Given the description of an element on the screen output the (x, y) to click on. 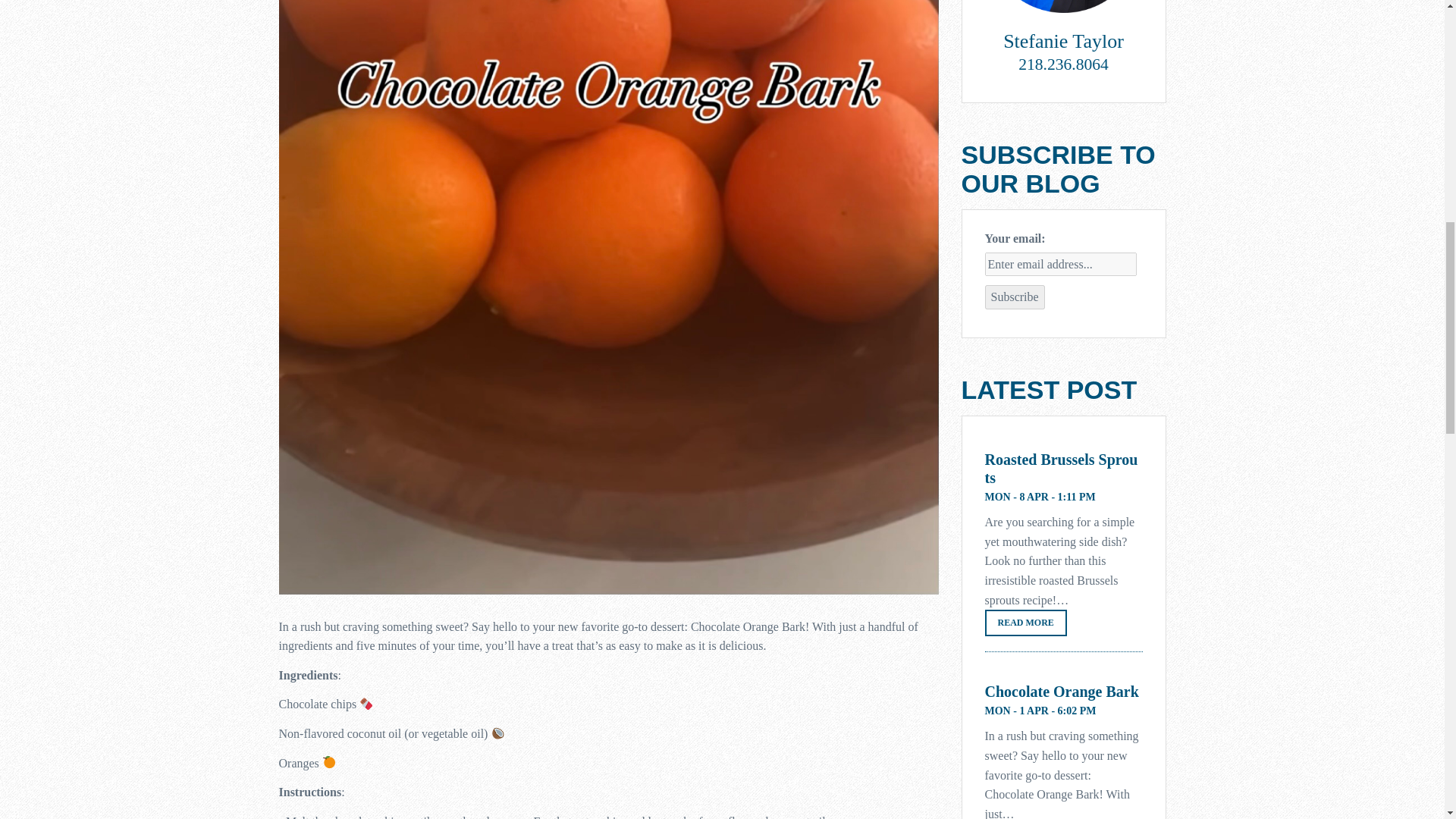
Chocolate Orange Bark (1061, 691)
218.236.8064 (1062, 64)
Subscribe (1013, 297)
Subscribe (1013, 297)
READ MORE (1024, 622)
Enter email address... (1059, 264)
Roasted Brussels Sprouts (1062, 468)
